Given the description of an element on the screen output the (x, y) to click on. 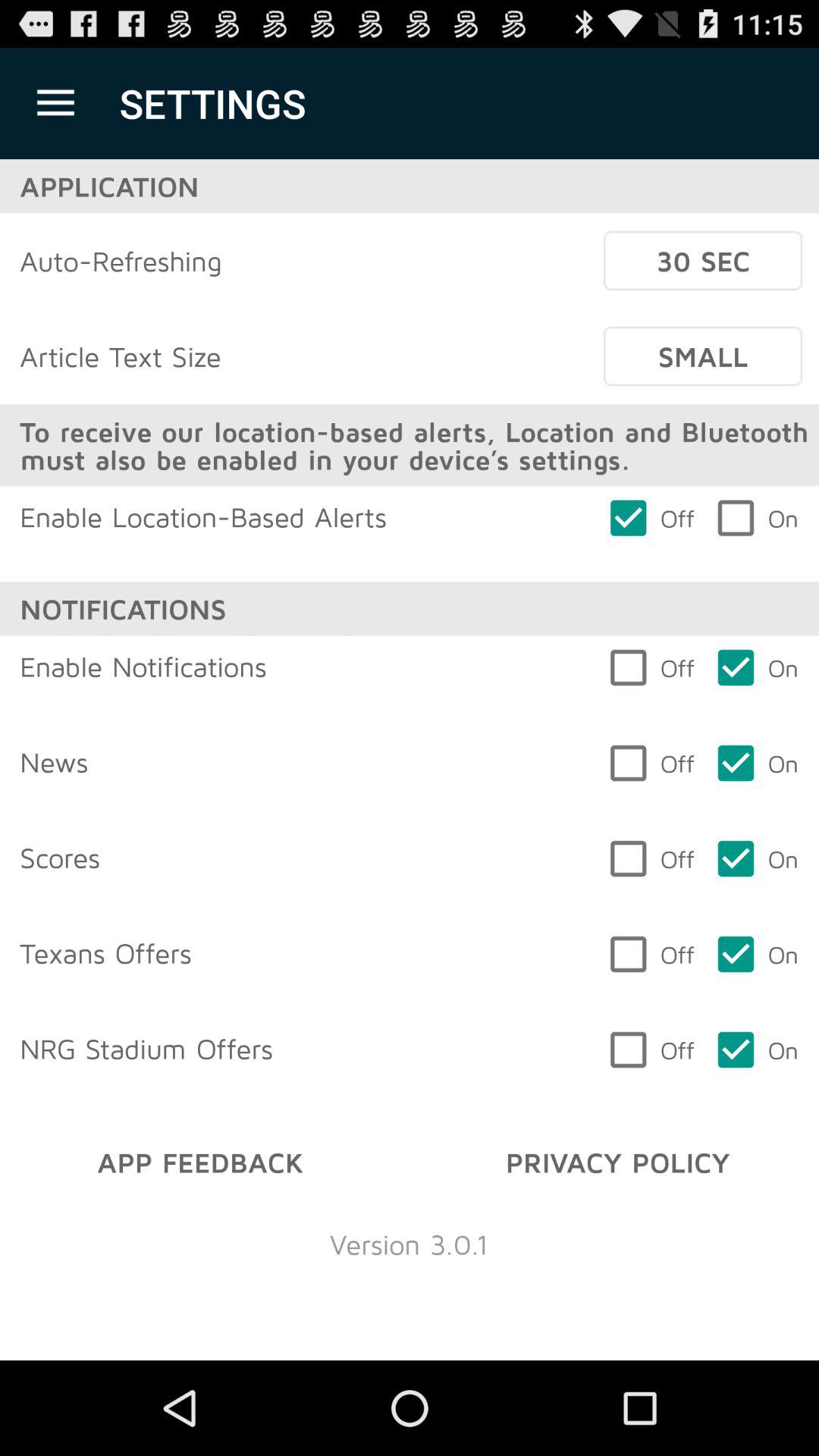
swipe to version 3 0 (408, 1243)
